Given the description of an element on the screen output the (x, y) to click on. 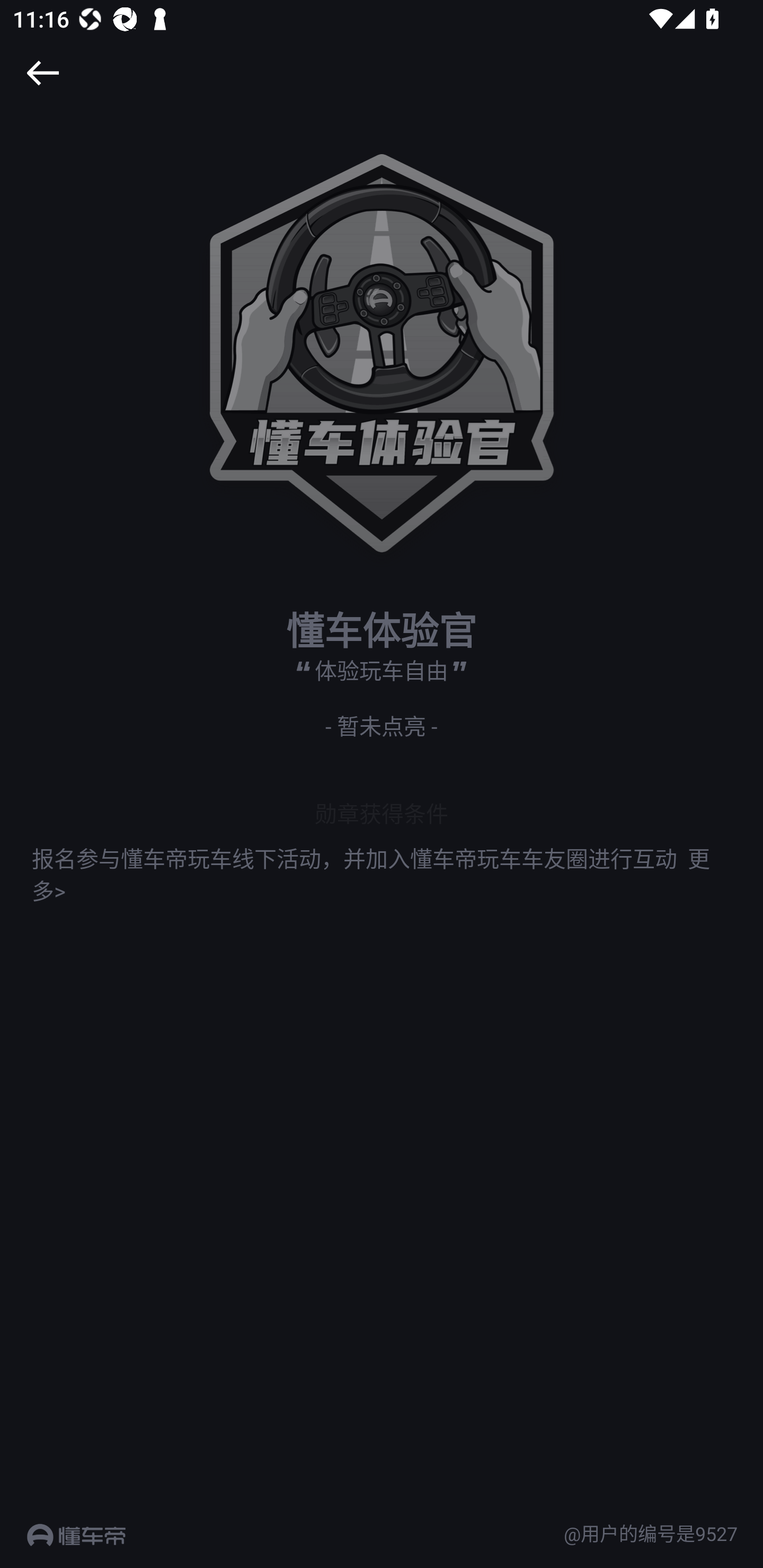
 (42, 72)
勋章获得条件 (381, 812)
报名参与懂车帝玩车线下活动，并加入懂车帝玩车车友圈进行互动  更多> (381, 873)
